Given the description of an element on the screen output the (x, y) to click on. 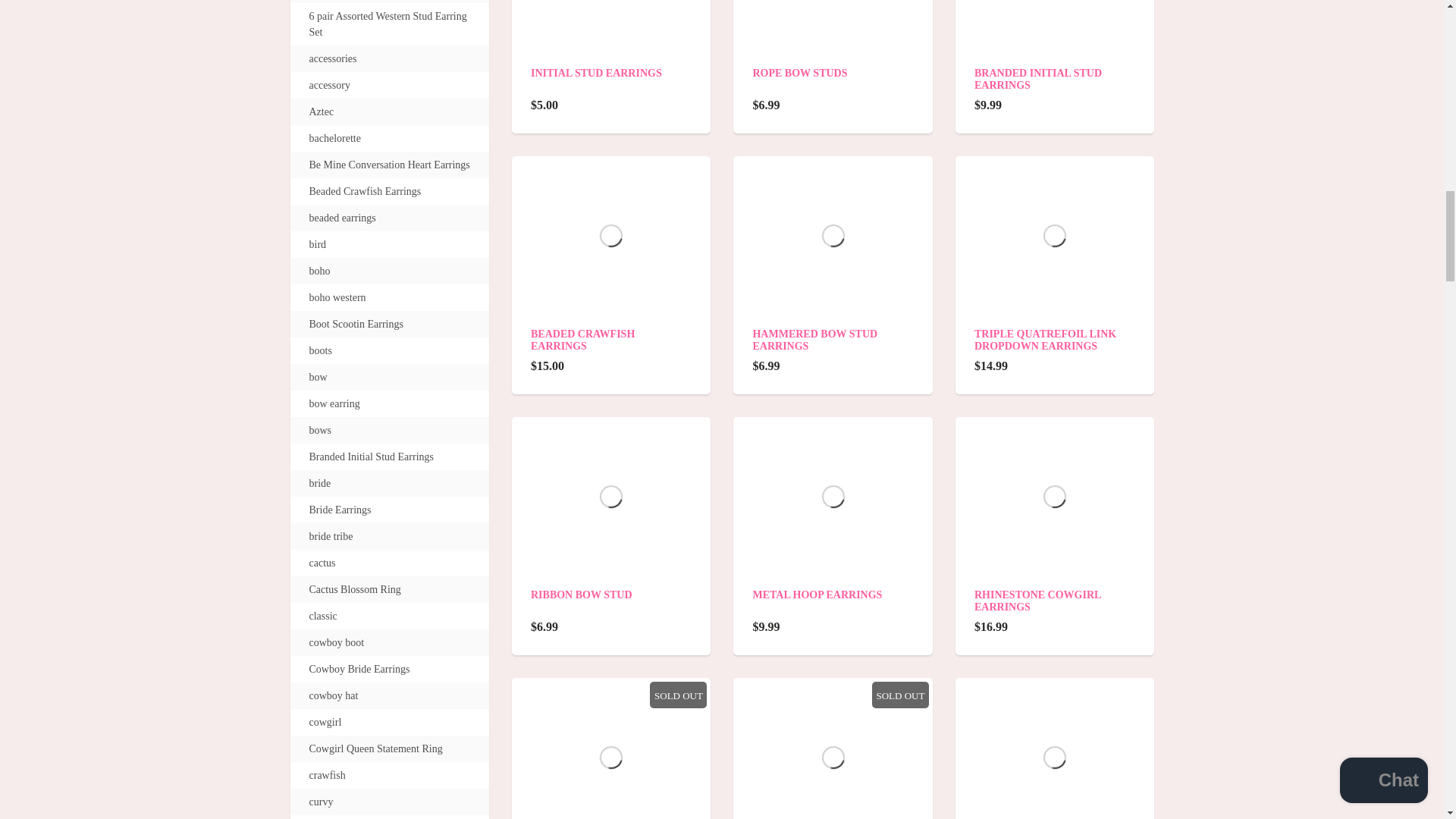
Show products matching tag bow earring (333, 403)
Show products matching tag bows (319, 430)
Show products matching tag Branded Initial Stud Earrings (370, 456)
Show products matching tag boho (319, 270)
Show products matching tag boho western (337, 297)
Show products matching tag bow (317, 376)
Show products matching tag beaded earrings (341, 217)
Show products matching tag boots (319, 350)
Show products matching tag Aztec (321, 111)
